Given the description of an element on the screen output the (x, y) to click on. 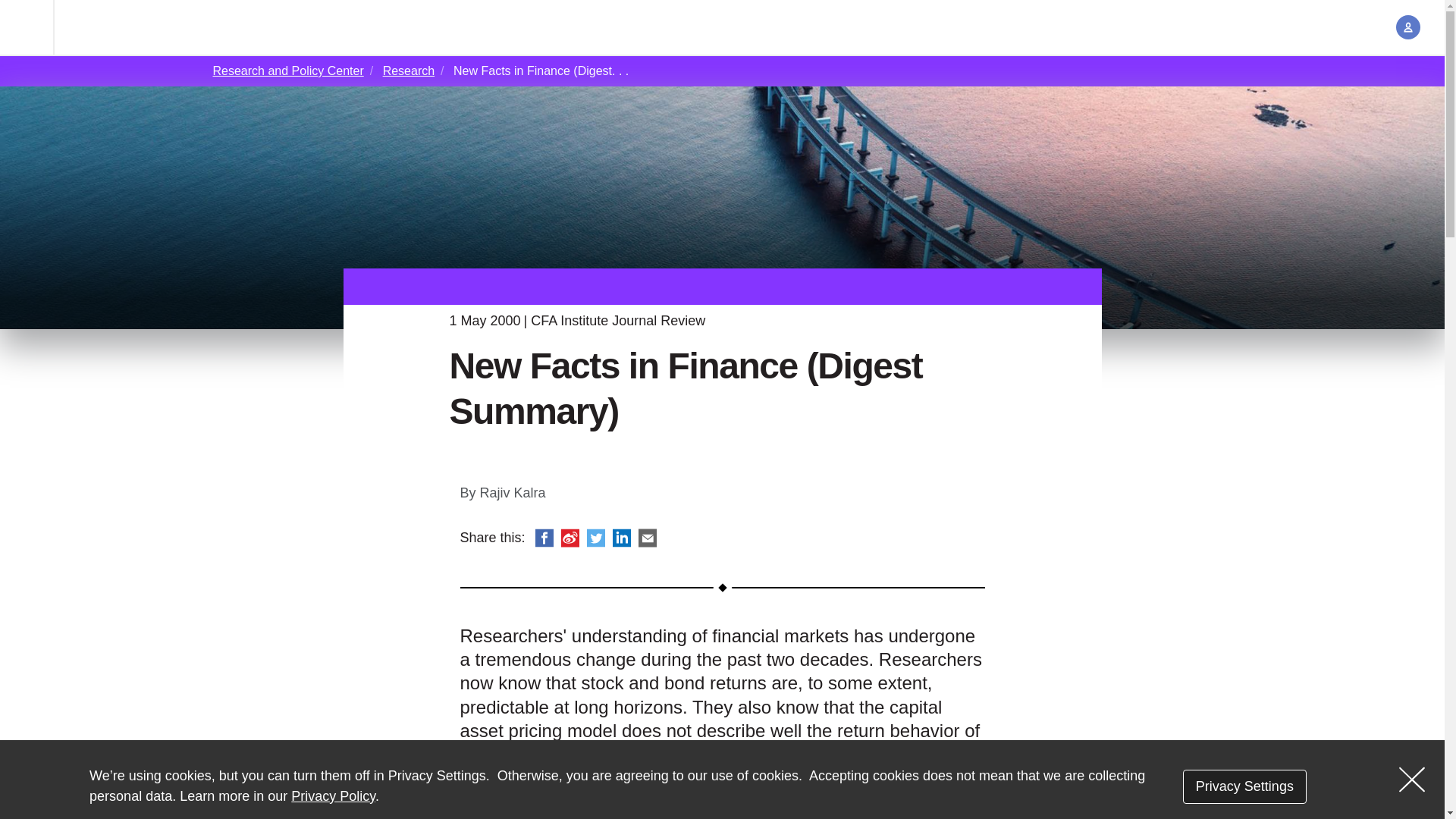
Account (1408, 27)
Share by Email (647, 537)
Share on Weibo (569, 537)
Share on Facebook (544, 537)
Share on Twitter (595, 537)
Toggle menu (27, 27)
Share on LinkedIn (621, 537)
